Given the description of an element on the screen output the (x, y) to click on. 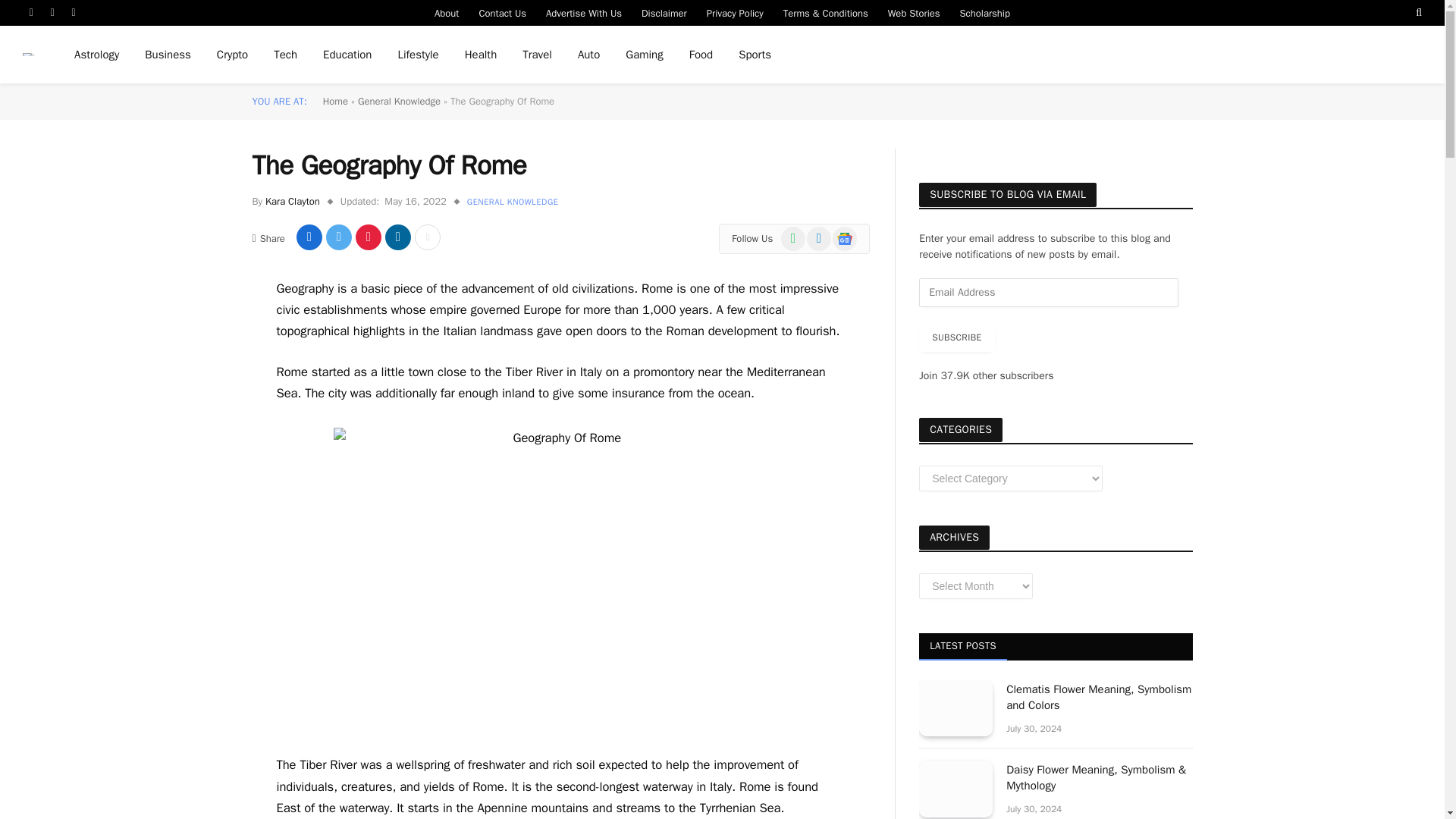
Instagram (73, 12)
Astrology (96, 54)
Share on Pinterest (368, 237)
Advertise With Us (583, 12)
Show More Social Sharing (427, 237)
Contact Us (501, 12)
Health (481, 54)
Scholarship (985, 12)
Auto (588, 54)
Business (167, 54)
Education (347, 54)
Share on Facebook (309, 237)
Disclaimer (664, 12)
Facebook (31, 12)
